Given the description of an element on the screen output the (x, y) to click on. 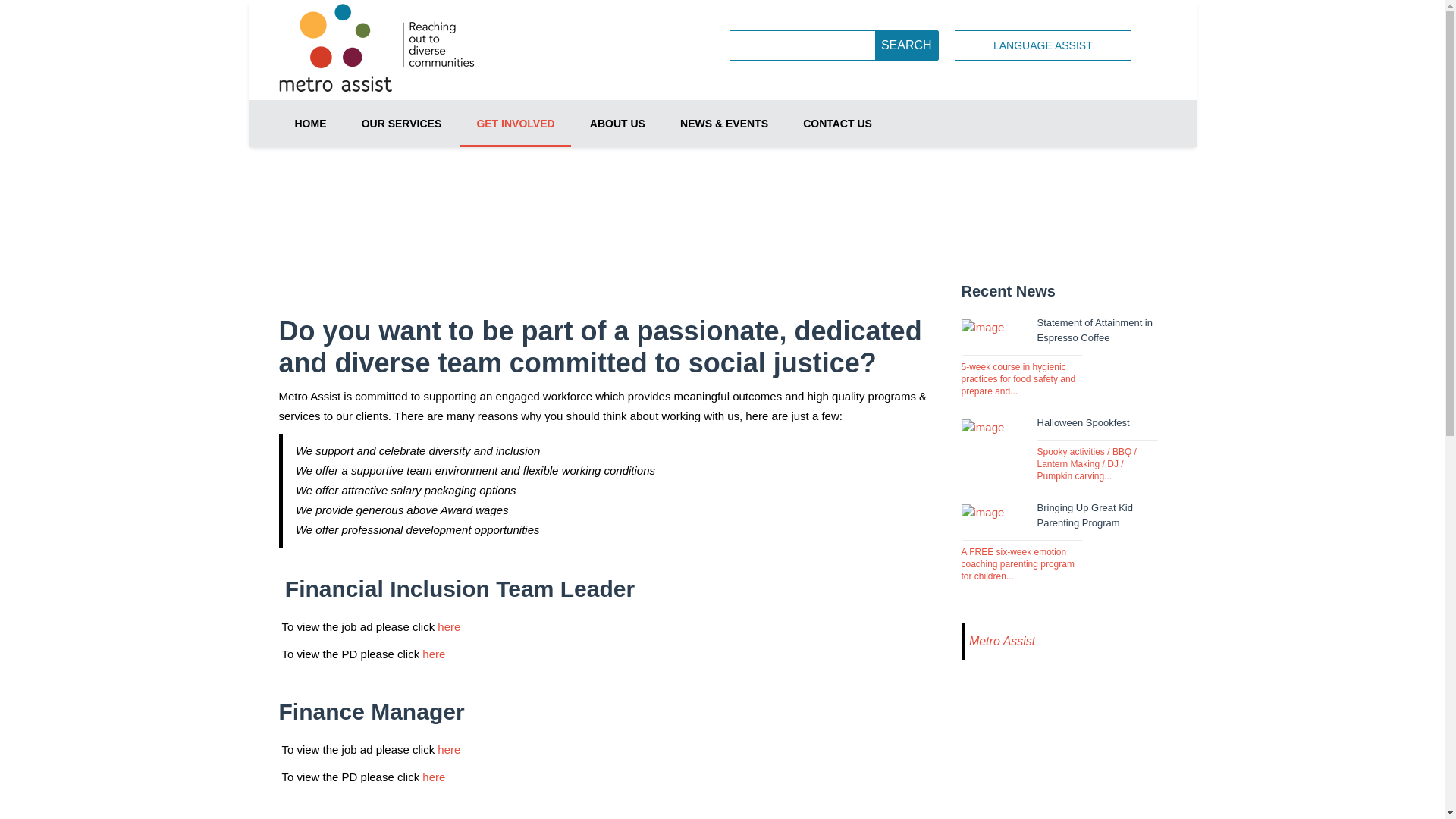
Halloween Spookfest Element type: text (1083, 422)
GET INVOLVED Element type: text (515, 123)
Metro Assist Element type: hover (382, 49)
here Element type: text (448, 749)
SEARCH Element type: text (906, 45)
Bringing Up Great Kid Parenting Program Element type: text (1084, 515)
NEWS & EVENTS Element type: text (724, 123)
CONTACT US Element type: text (837, 123)
Get Involved Element type: text (1040, 195)
ABOUT US Element type: text (617, 123)
HOME Element type: text (310, 123)
LANGUAGE ASSIST Element type: text (1042, 45)
here Element type: text (433, 776)
Statement of Attainment in Espresso Coffee Element type: text (1094, 329)
here Element type: text (448, 626)
OUR SERVICES Element type: text (401, 123)
Metro Assist Element type: text (1002, 640)
Home Element type: text (972, 195)
here Element type: text (433, 653)
